Given the description of an element on the screen output the (x, y) to click on. 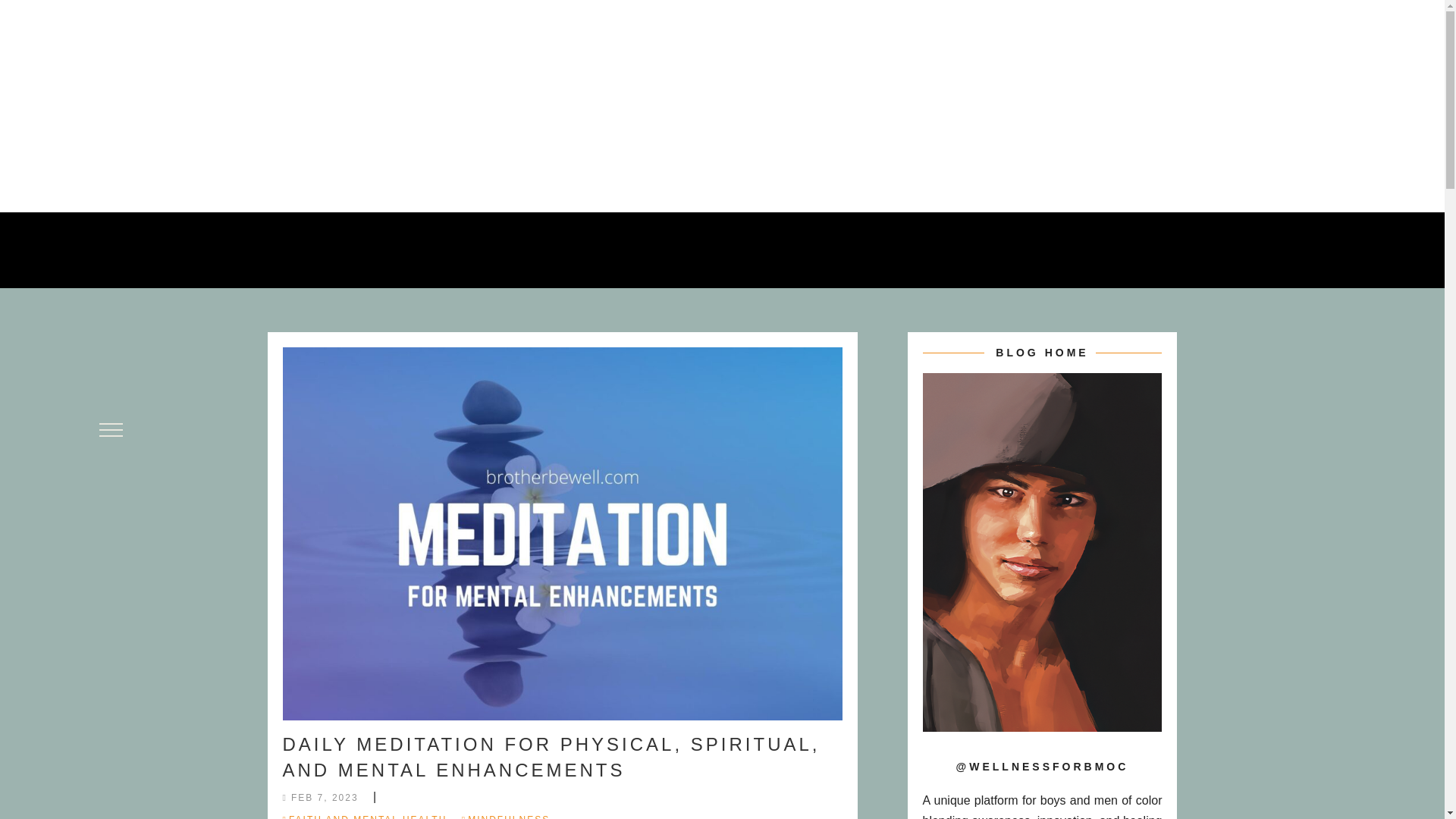
Follow on Instagram (1106, 102)
Follow on Youtube (1136, 102)
Follow on Facebook (1075, 102)
FAITH AND MENTAL HEALTH (364, 814)
MINDFULNESS (505, 814)
